Given the description of an element on the screen output the (x, y) to click on. 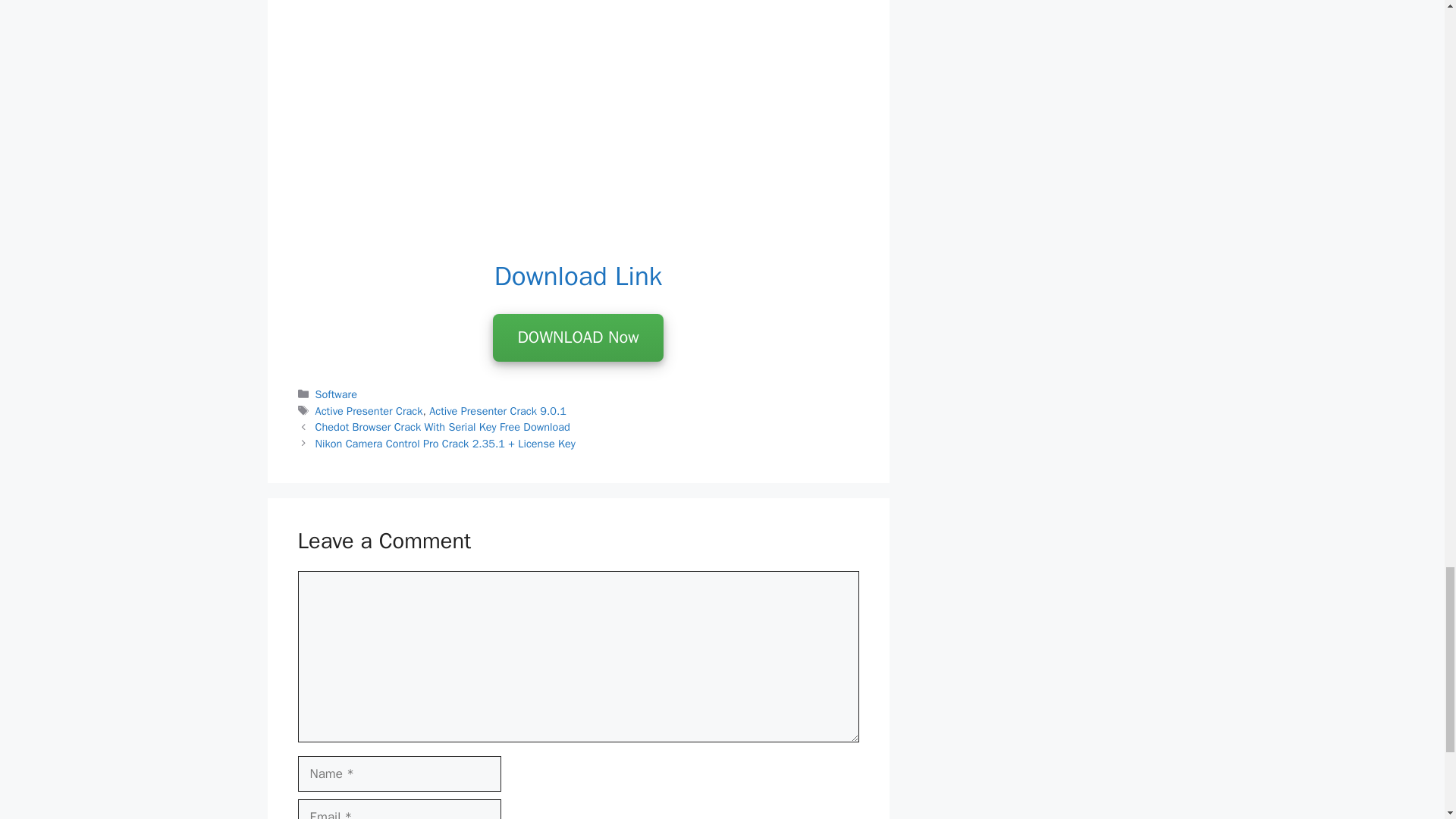
Software (335, 394)
Active Presenter Crack 9.0.1 (497, 410)
Download Link (578, 275)
Active Presenter Crack (369, 410)
DOWNLOAD Now (577, 338)
Chedot Browser Crack With Serial Key Free Download (442, 427)
DOWNLOAD Now (577, 337)
